Given the description of an element on the screen output the (x, y) to click on. 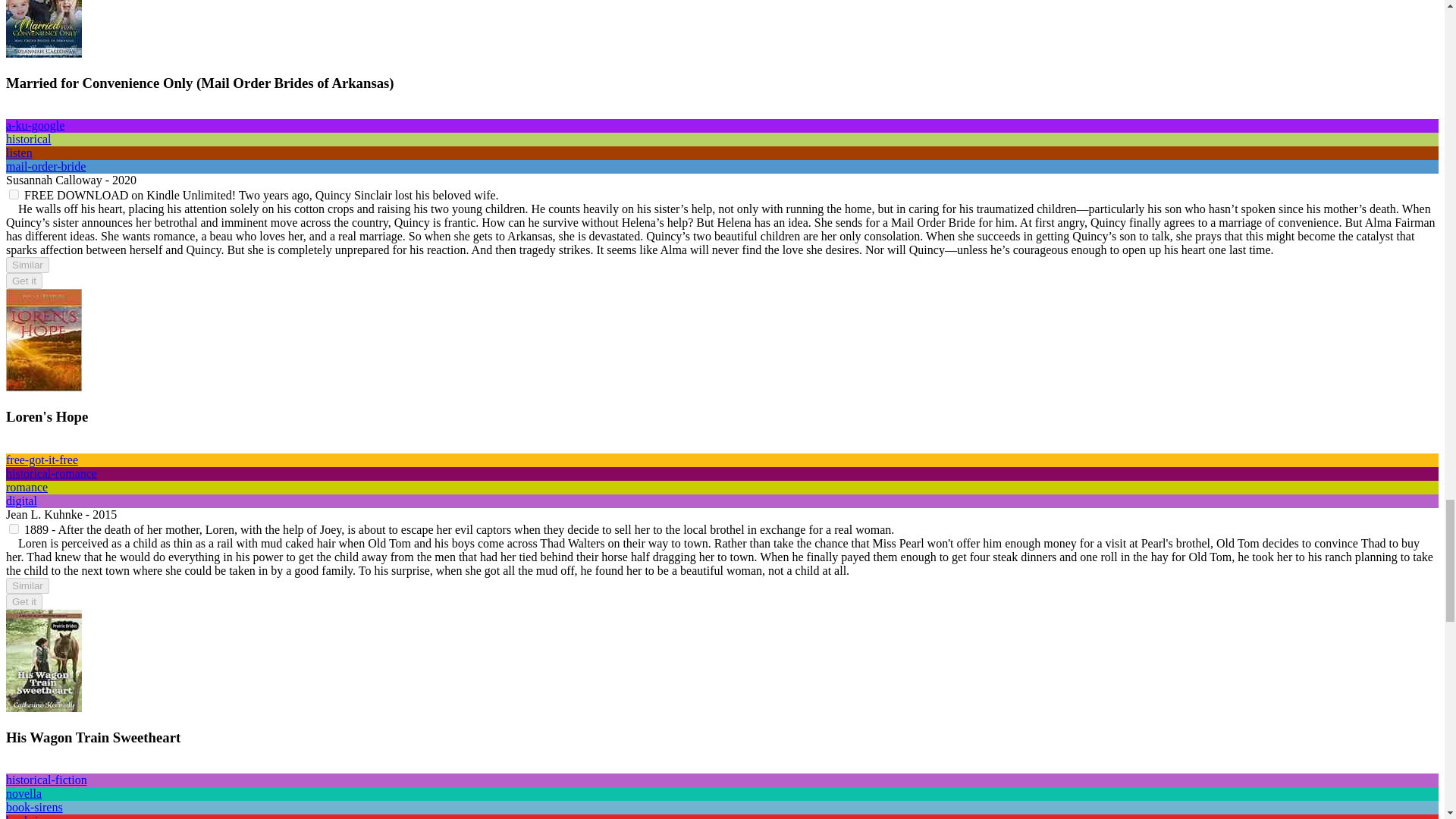
on (13, 194)
on (13, 528)
